Given the description of an element on the screen output the (x, y) to click on. 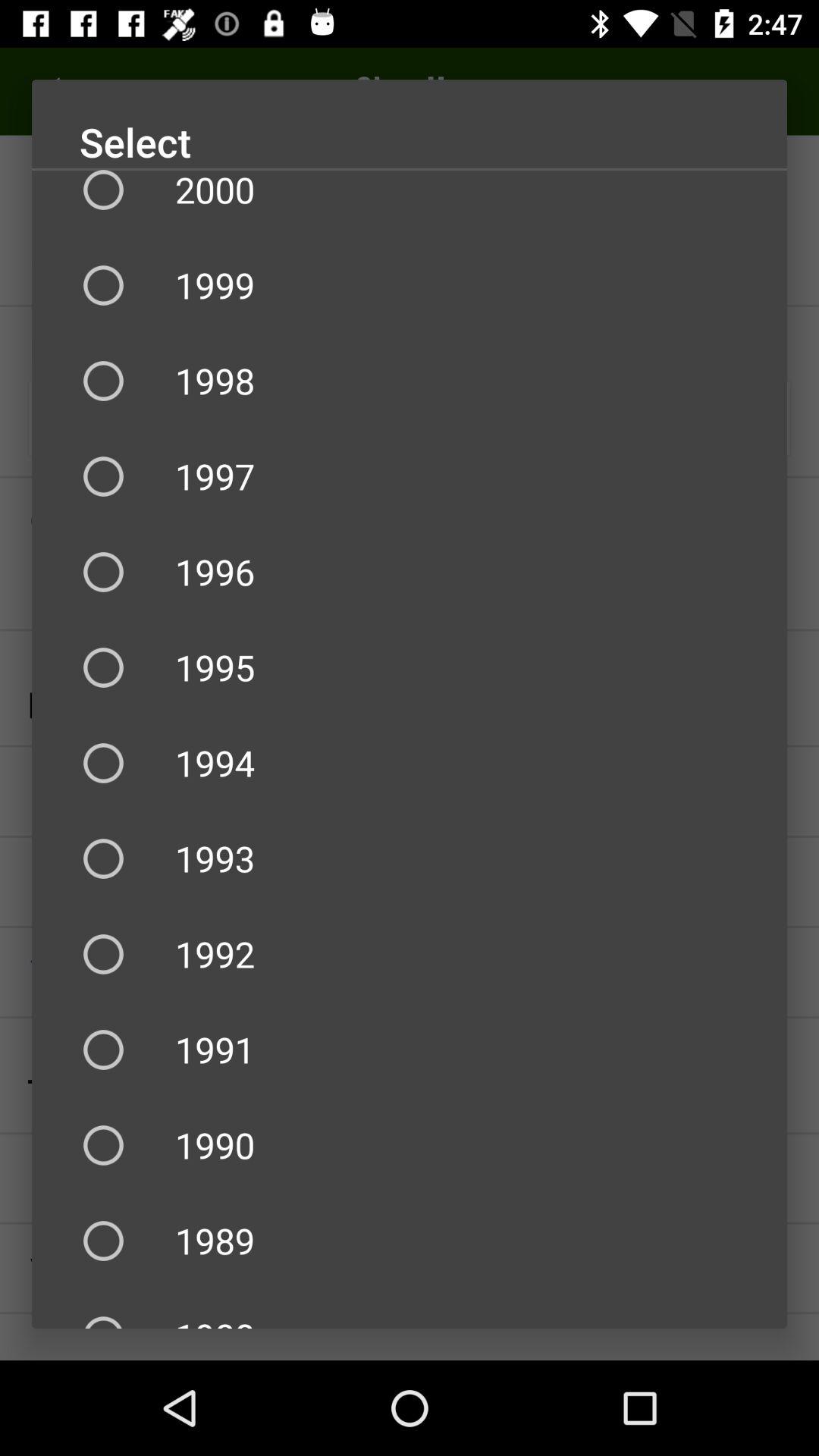
flip to the 1998 (409, 380)
